Given the description of an element on the screen output the (x, y) to click on. 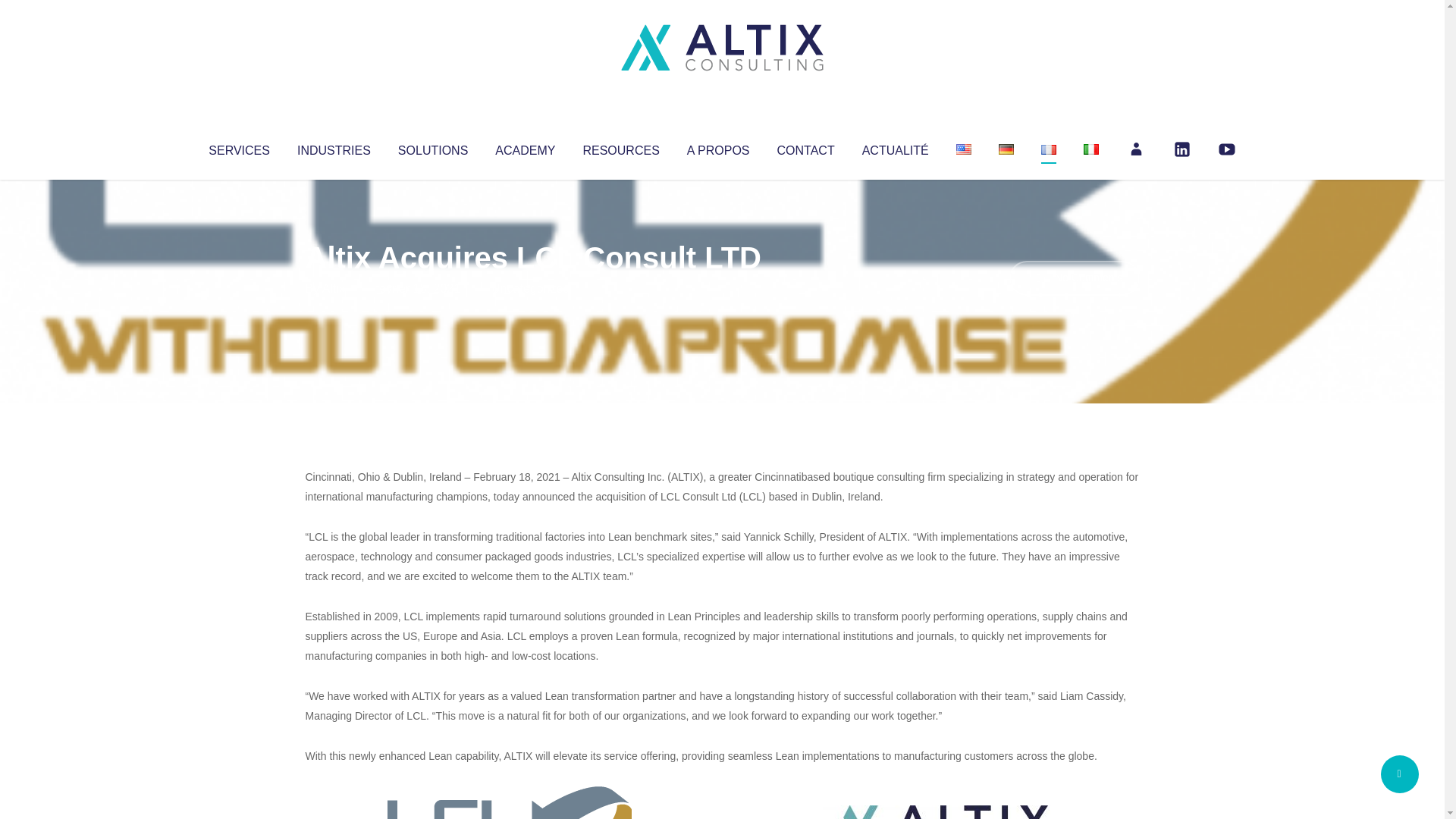
Uncategorized (530, 287)
No Comments (1073, 278)
SOLUTIONS (432, 146)
A PROPOS (718, 146)
Articles par Altix (333, 287)
INDUSTRIES (334, 146)
Altix (333, 287)
RESOURCES (620, 146)
SERVICES (238, 146)
ACADEMY (524, 146)
